Given the description of an element on the screen output the (x, y) to click on. 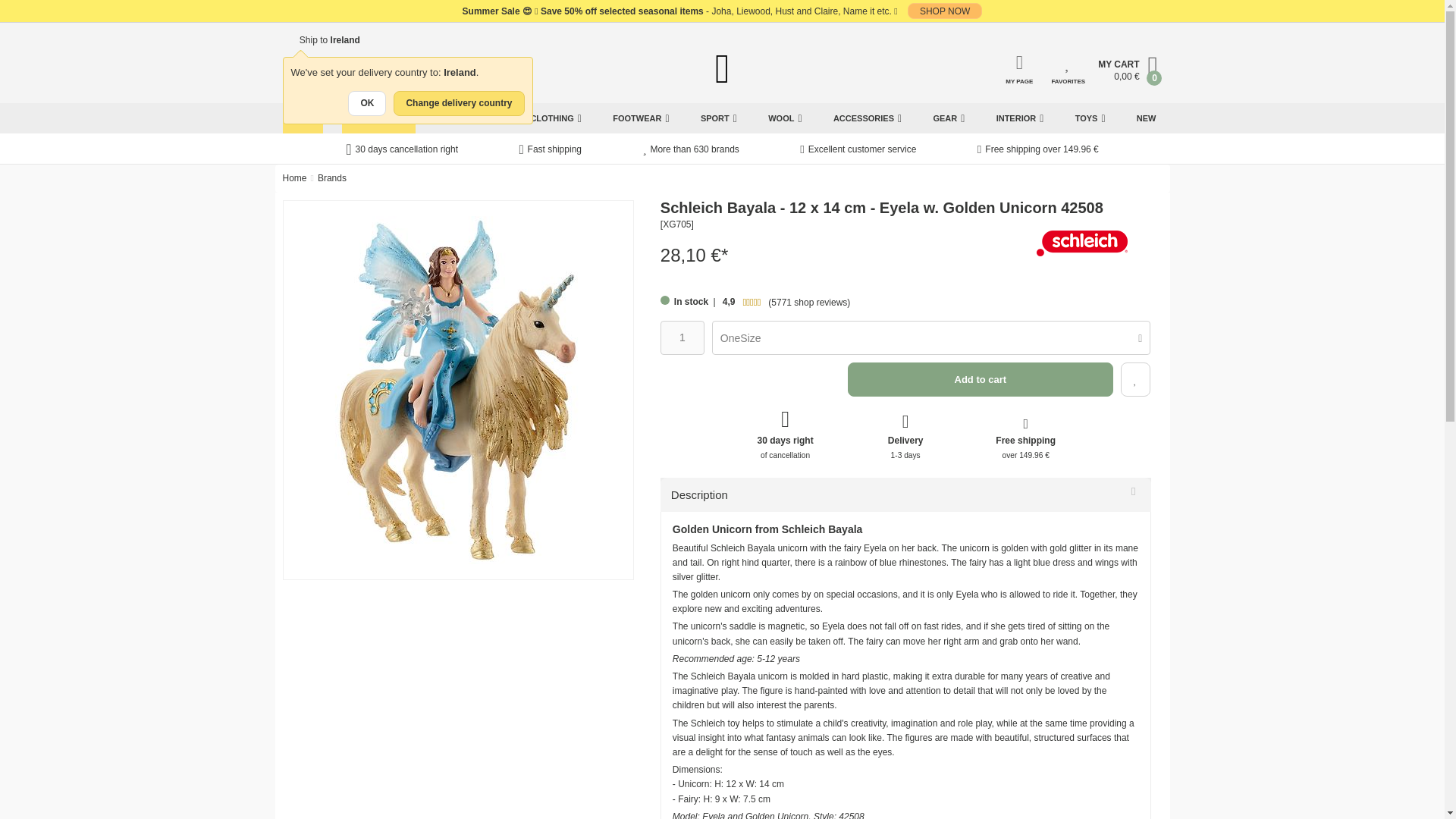
ACCESSORIES (867, 118)
More than 630 brands (690, 149)
Excellent customer service (857, 149)
NEW (1146, 118)
INTERIOR (1019, 118)
SUMMER SALE (378, 118)
KIDS CLOTHING (545, 118)
Change delivery country (458, 103)
SPORT (718, 118)
Fast shipping (549, 149)
